Given the description of an element on the screen output the (x, y) to click on. 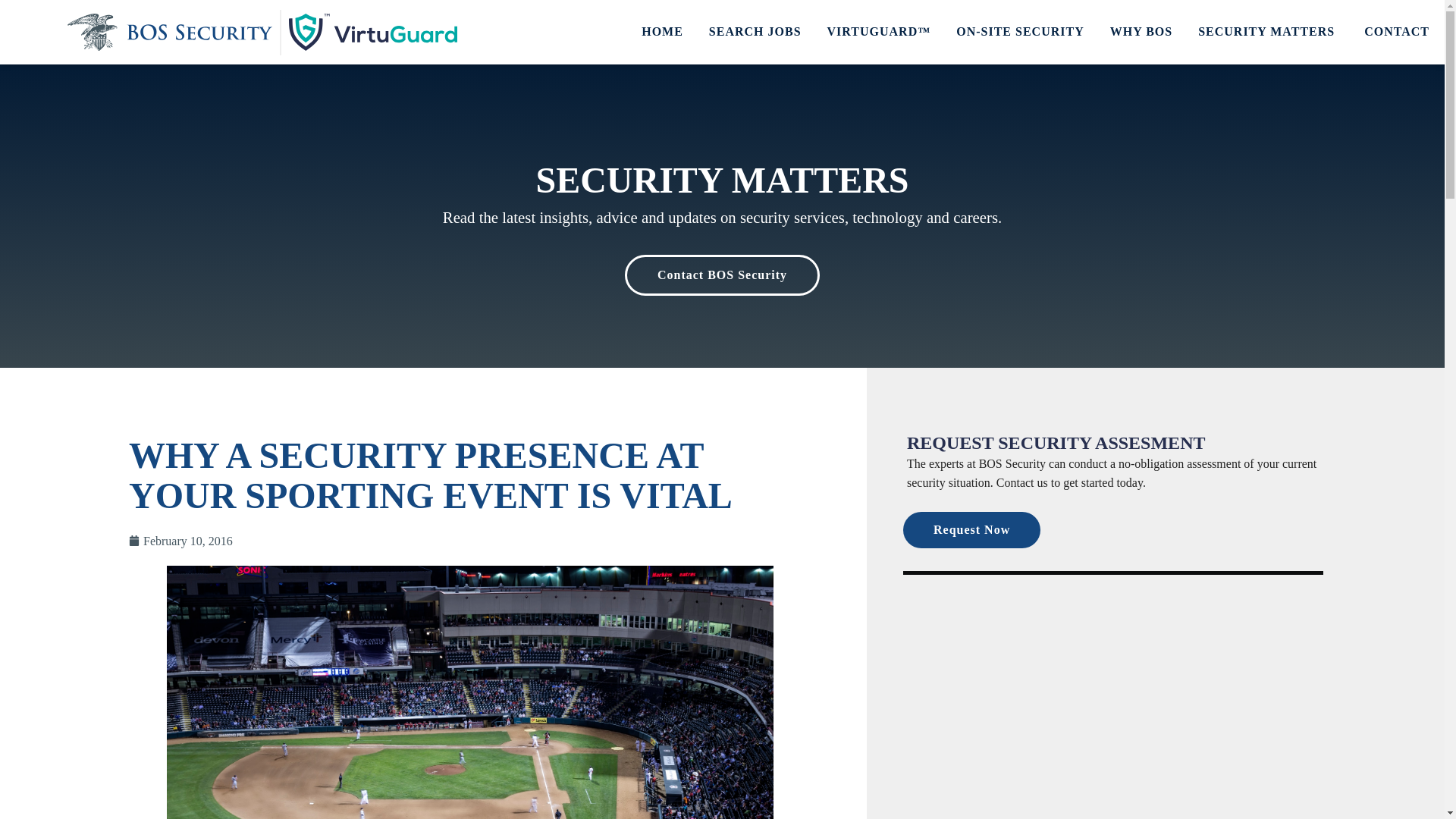
WHY BOS (1140, 31)
SECURITY MATTERS  (1268, 31)
ON-SITE SECURITY (1019, 31)
SEARCH JOBS (755, 31)
CONTACT (1396, 31)
